Given the description of an element on the screen output the (x, y) to click on. 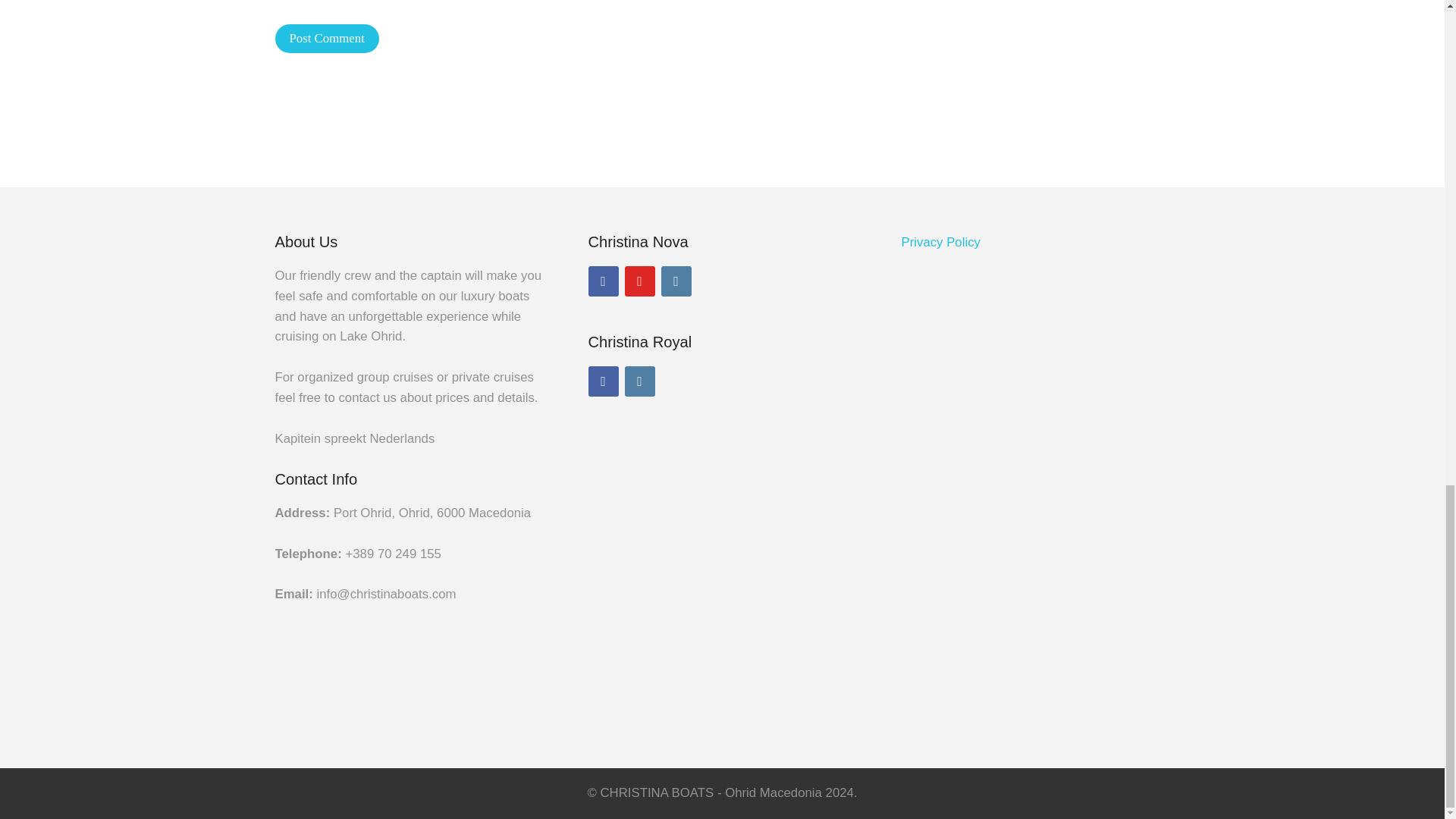
YouTube (639, 281)
Post Comment (326, 38)
Privacy Policy (940, 242)
Post Comment (326, 38)
Instagram (639, 381)
Facebook (603, 281)
Instagram (676, 281)
Facebook (603, 381)
